Given the description of an element on the screen output the (x, y) to click on. 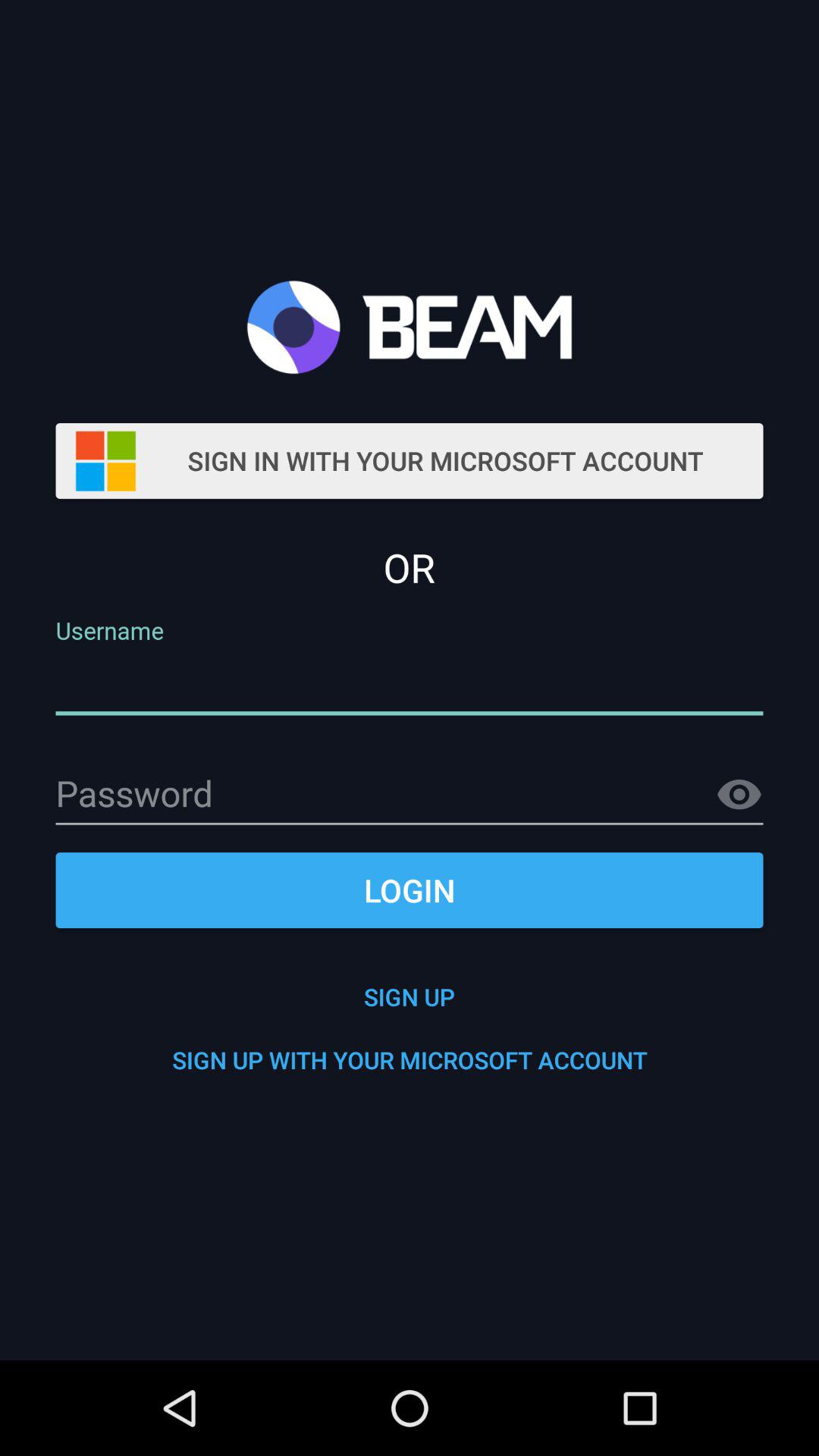
go o username (409, 684)
